Given the description of an element on the screen output the (x, y) to click on. 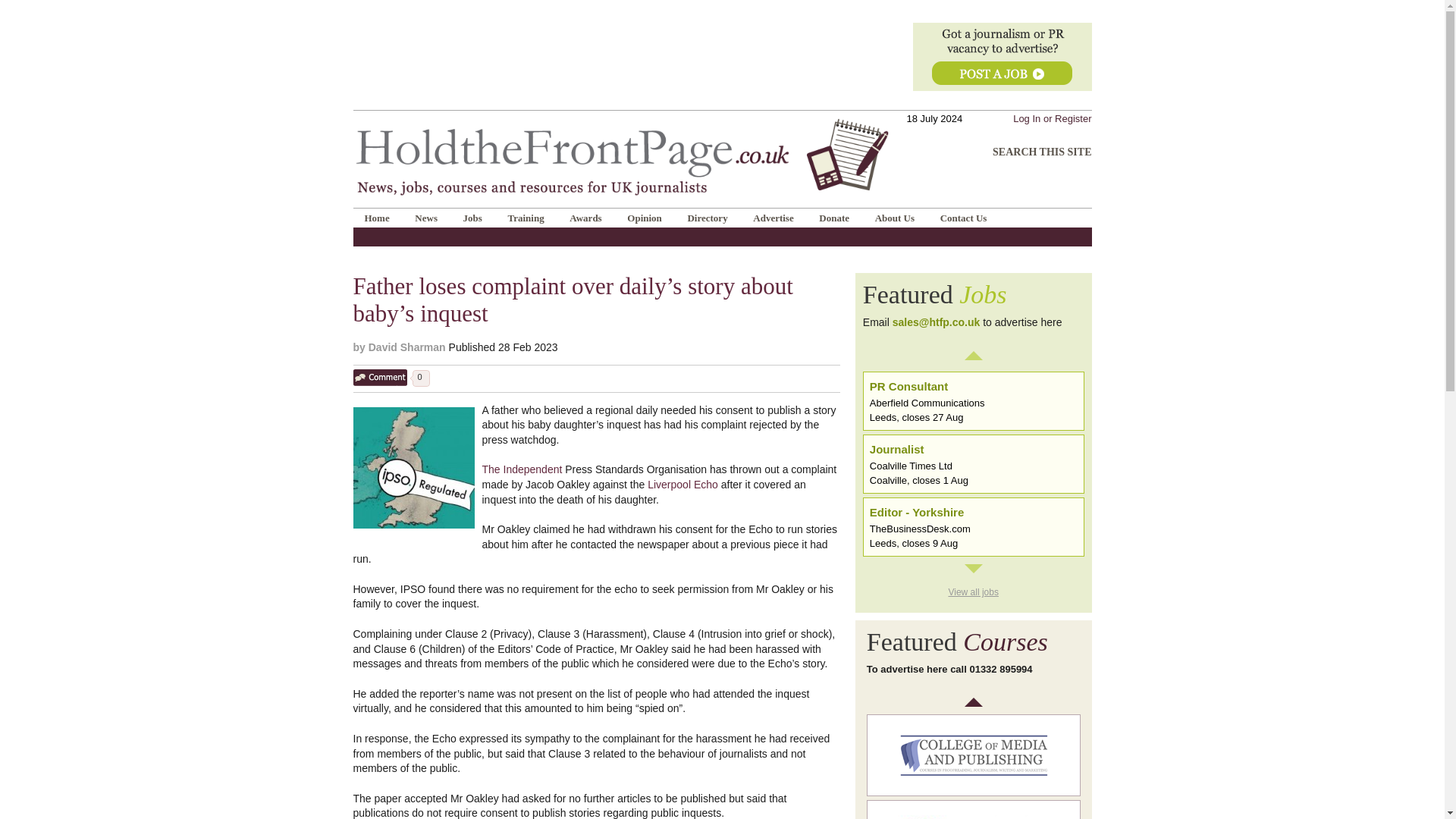
Home (377, 217)
Jobs (472, 217)
Log In or Register (1051, 118)
Liverpool Echo (682, 484)
Latest journalism jobs (973, 294)
News (425, 217)
HoldtheFrontPage (622, 116)
The Independent (521, 469)
